Given the description of an element on the screen output the (x, y) to click on. 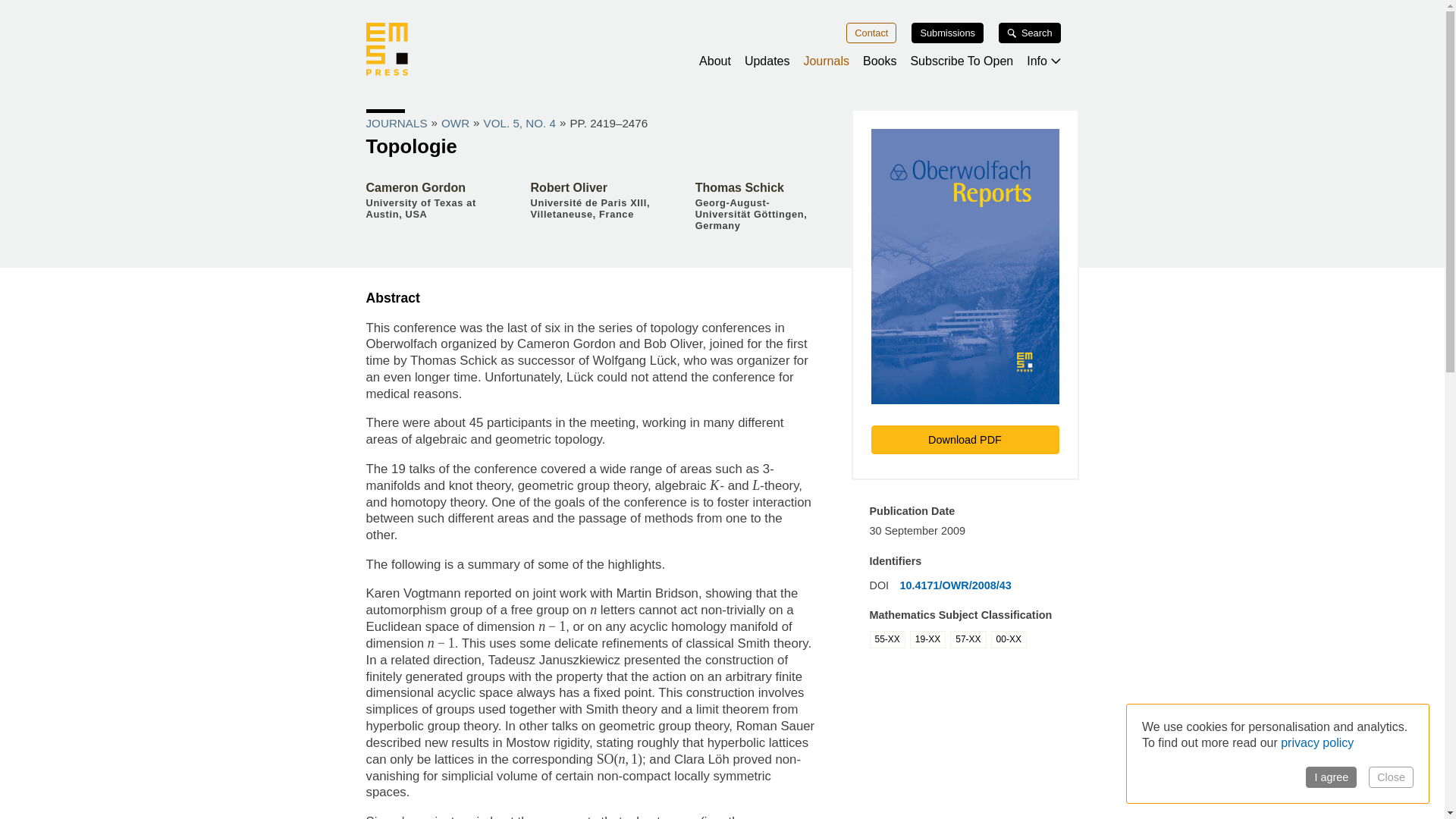
JOURNALS (395, 123)
I agree (1331, 776)
Main Navigation (721, 47)
Journals (825, 60)
Search (1029, 32)
About (714, 60)
Subscribe To Open (961, 60)
Books (879, 60)
OWR (454, 123)
Updates (767, 60)
